Given the description of an element on the screen output the (x, y) to click on. 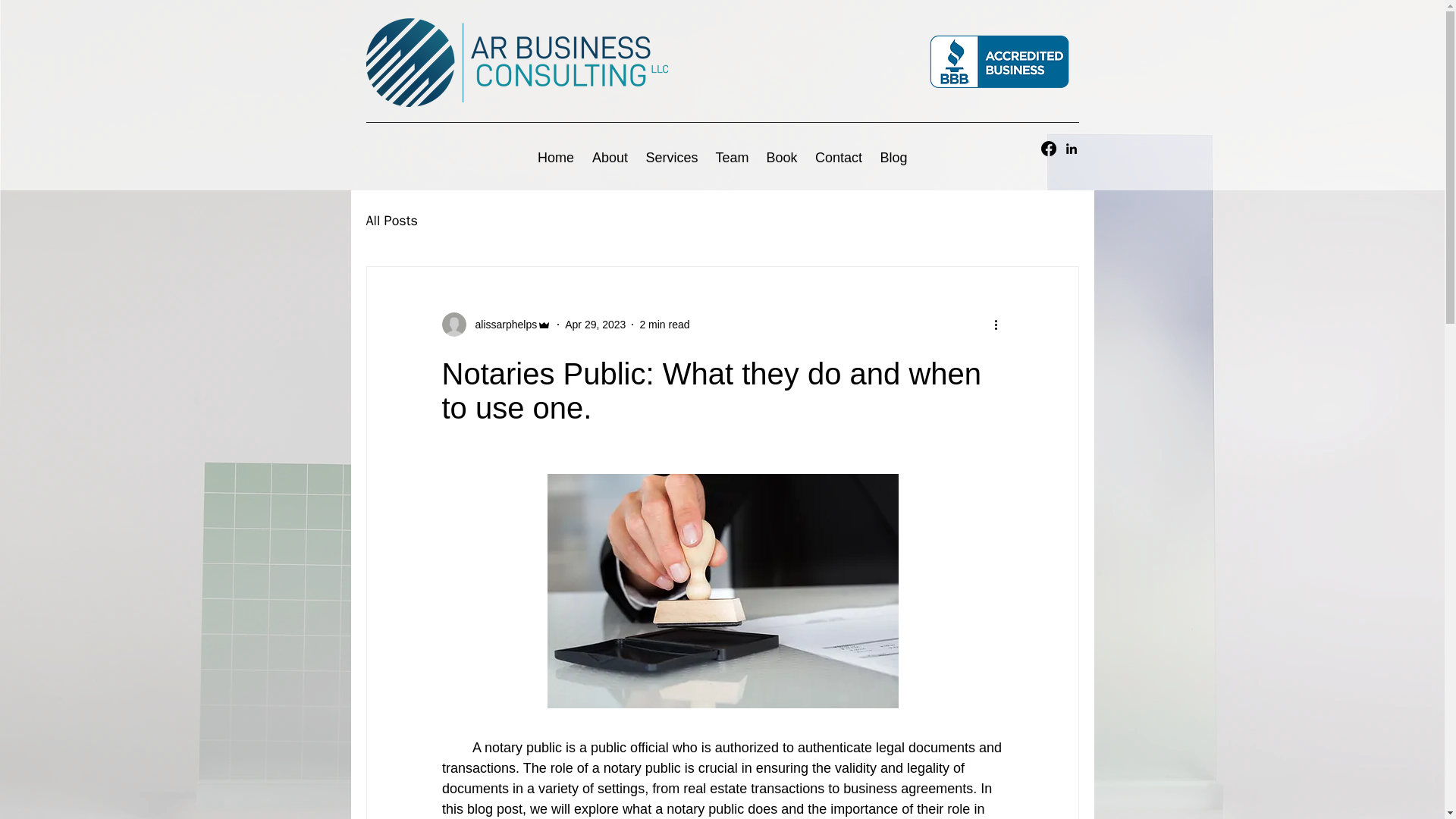
Blog (892, 157)
All Posts (390, 220)
Home (555, 157)
2 min read (663, 324)
Services (671, 157)
alissarphelps (496, 324)
Apr 29, 2023 (595, 324)
alissarphelps (501, 324)
About (610, 157)
Contact (838, 157)
BBB-Logo.png (999, 62)
Book (781, 157)
Team (731, 157)
